Given the description of an element on the screen output the (x, y) to click on. 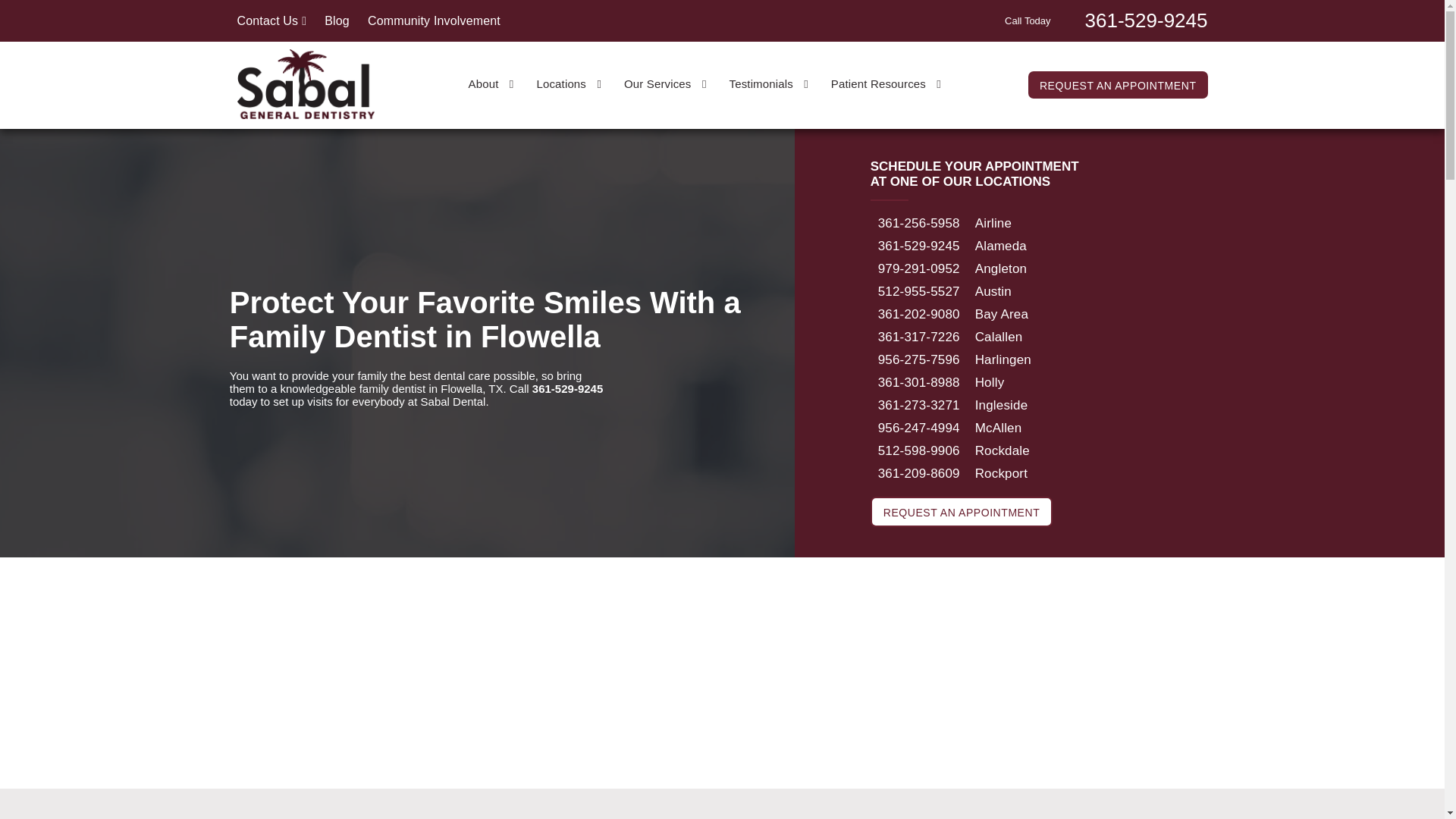
Contact Us (270, 19)
Call Today361-529-9245 (1105, 19)
Blog (336, 19)
Locations (568, 83)
Community Involvement (434, 19)
